Given the description of an element on the screen output the (x, y) to click on. 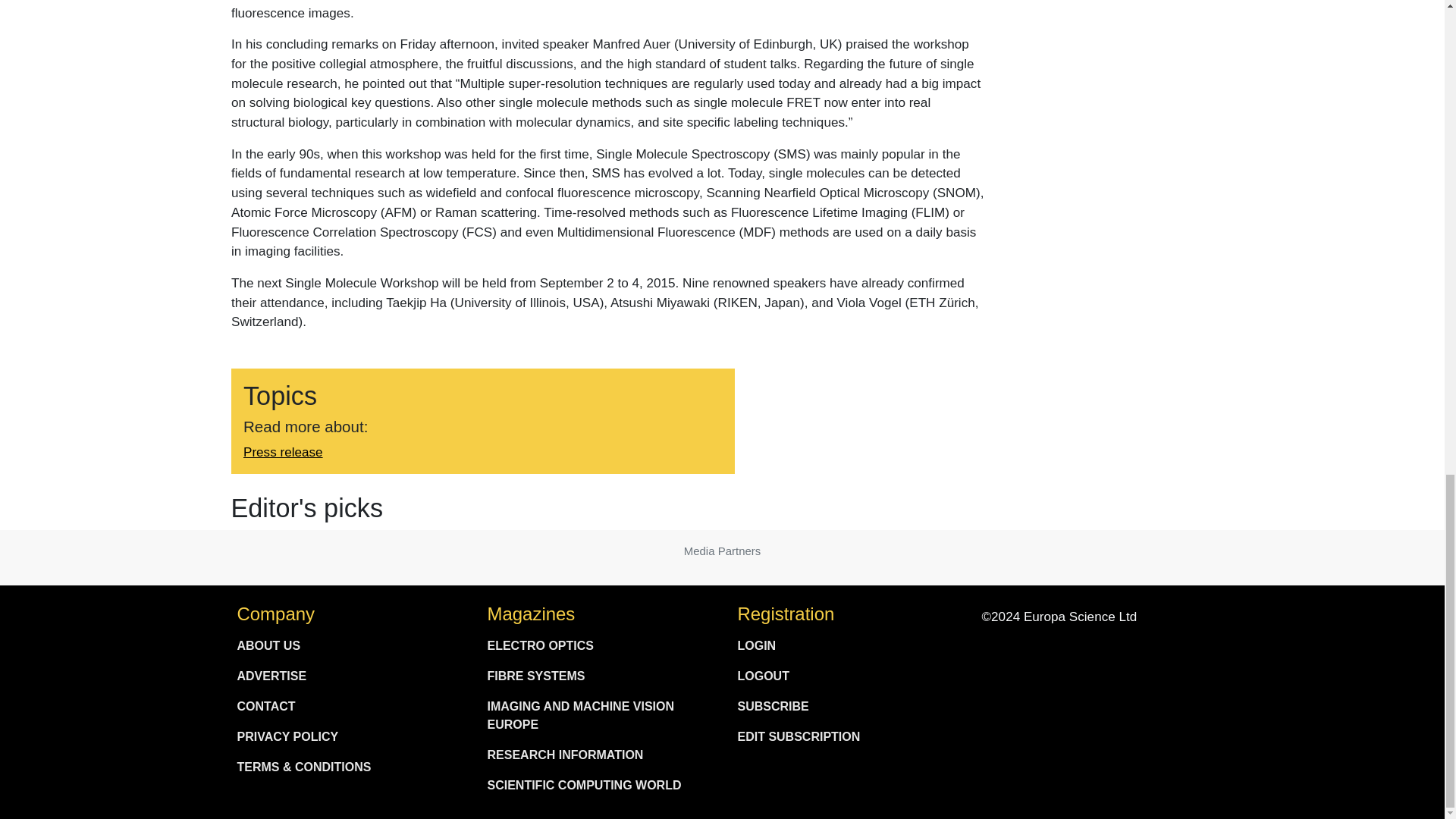
ADVERTISE (346, 675)
ABOUT US (346, 645)
Press release (282, 452)
